Given the description of an element on the screen output the (x, y) to click on. 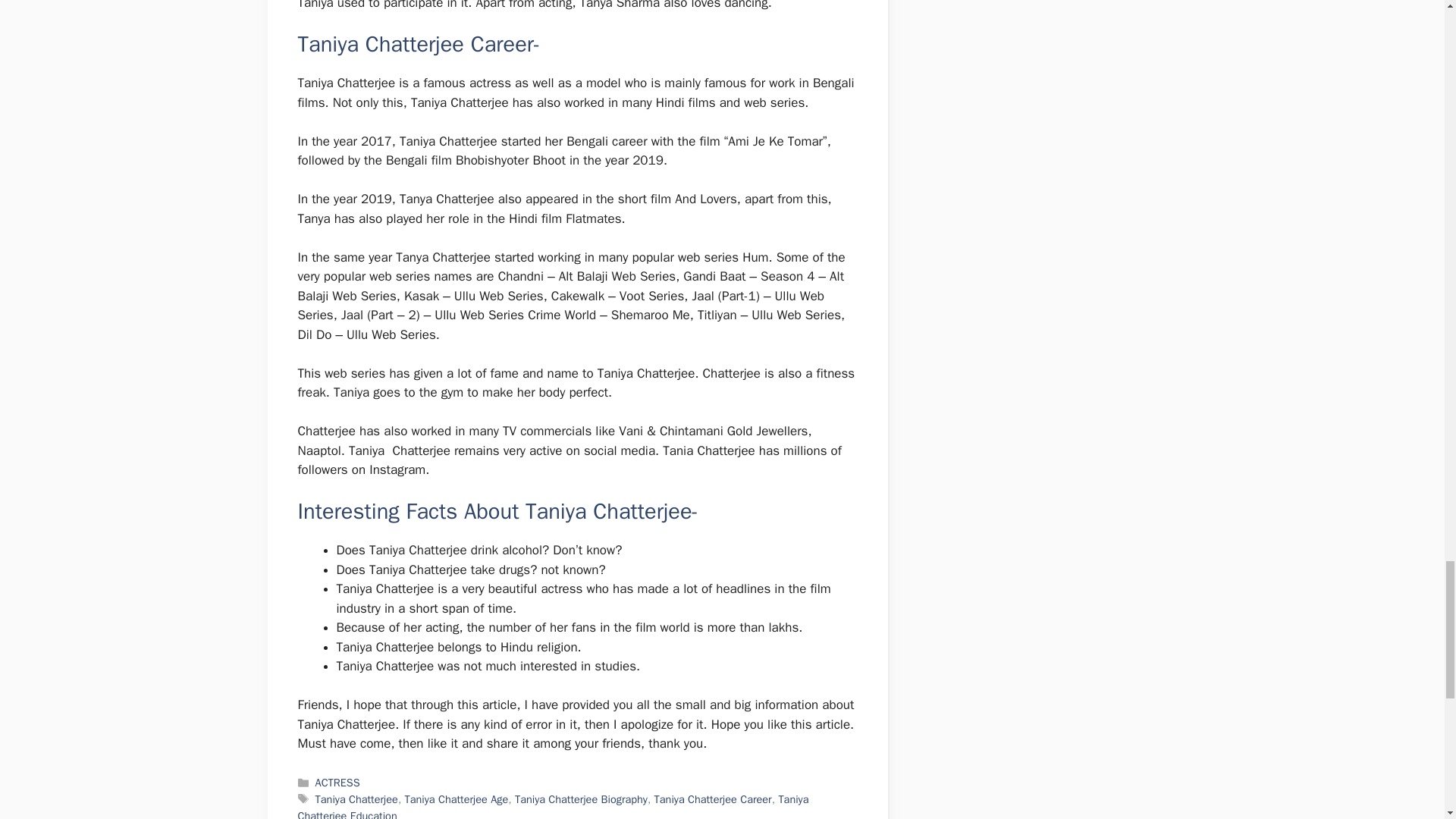
ACTRESS (337, 782)
Taniya Chatterjee Biography (581, 798)
Taniya Chatterjee (356, 798)
Taniya Chatterjee Career (712, 798)
Taniya Chatterjee Age (456, 798)
Taniya Chatterjee Education (552, 805)
